Given the description of an element on the screen output the (x, y) to click on. 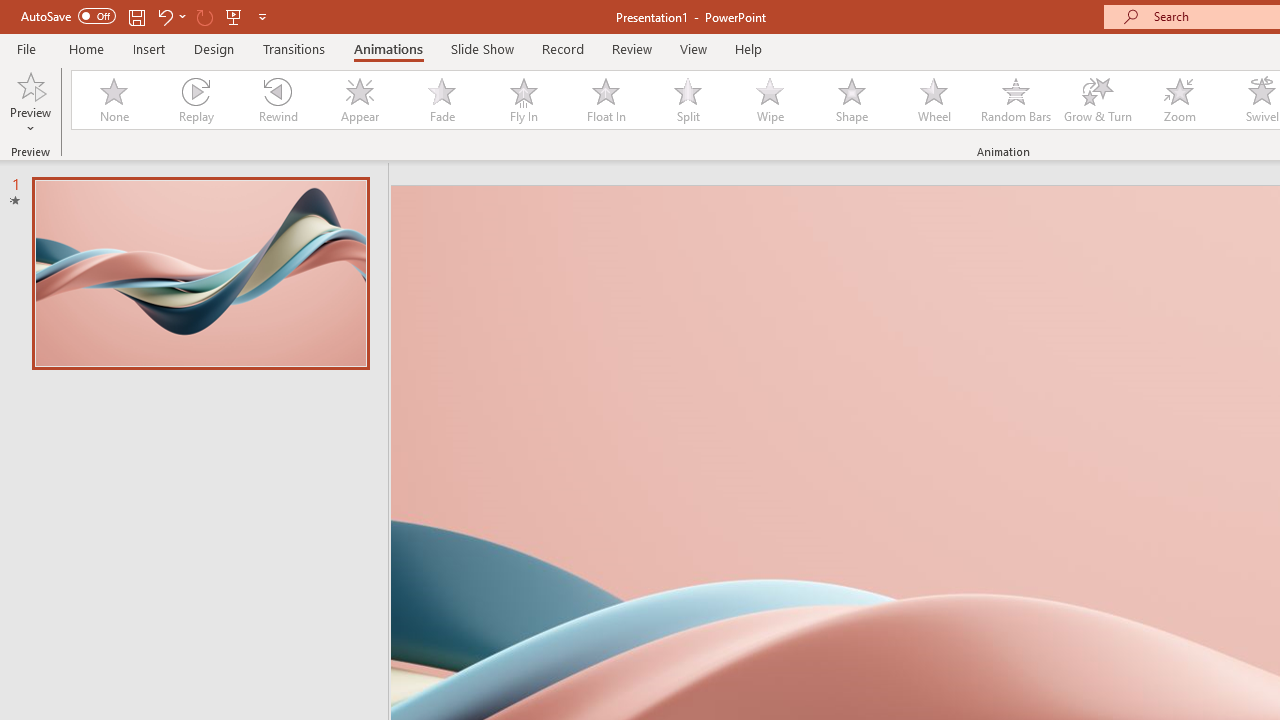
Replay (195, 100)
Shape (852, 100)
Fade (441, 100)
Wheel (934, 100)
Split (687, 100)
Float In (605, 100)
